Given the description of an element on the screen output the (x, y) to click on. 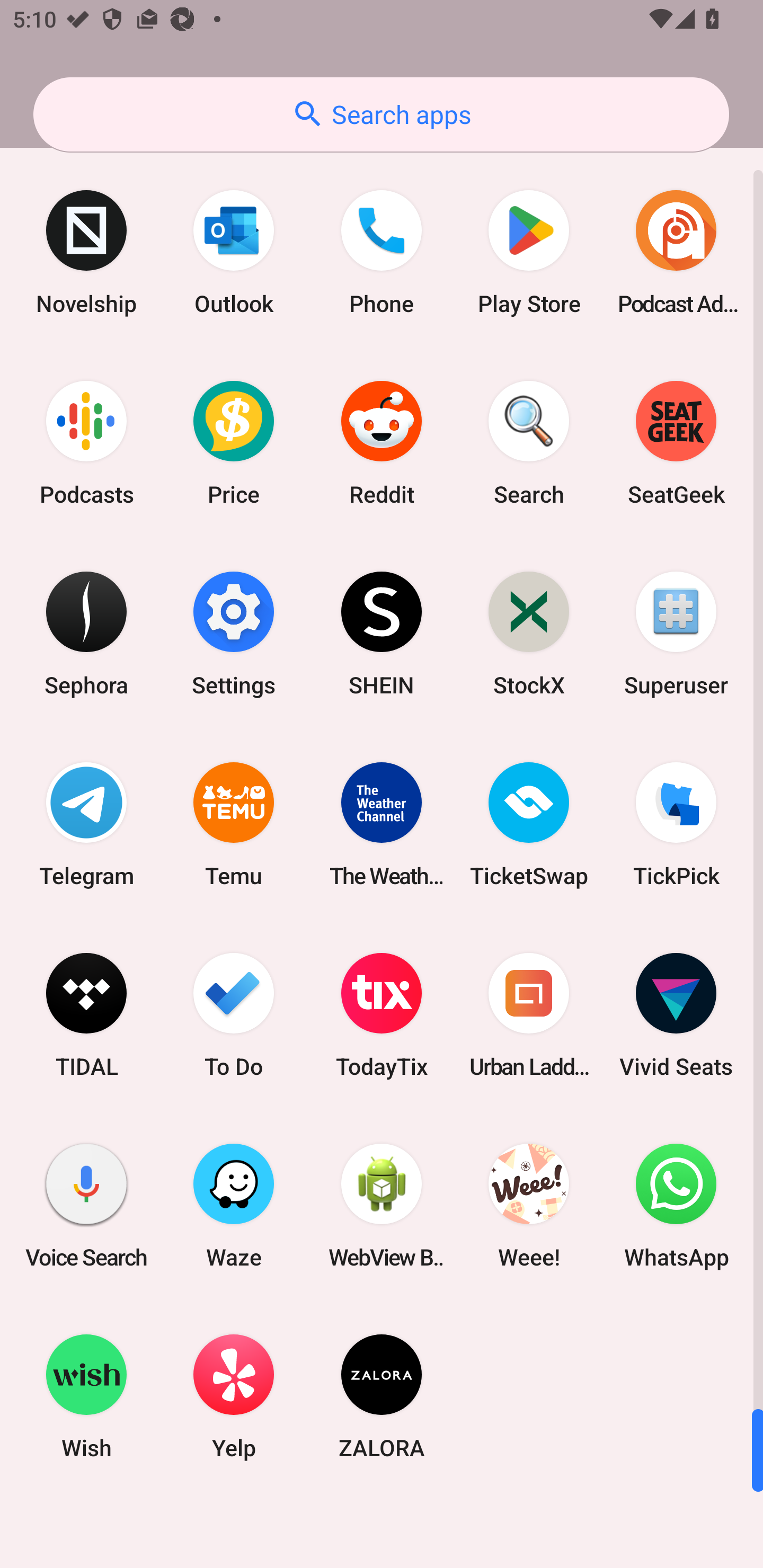
Yelp (233, 1396)
